Given the description of an element on the screen output the (x, y) to click on. 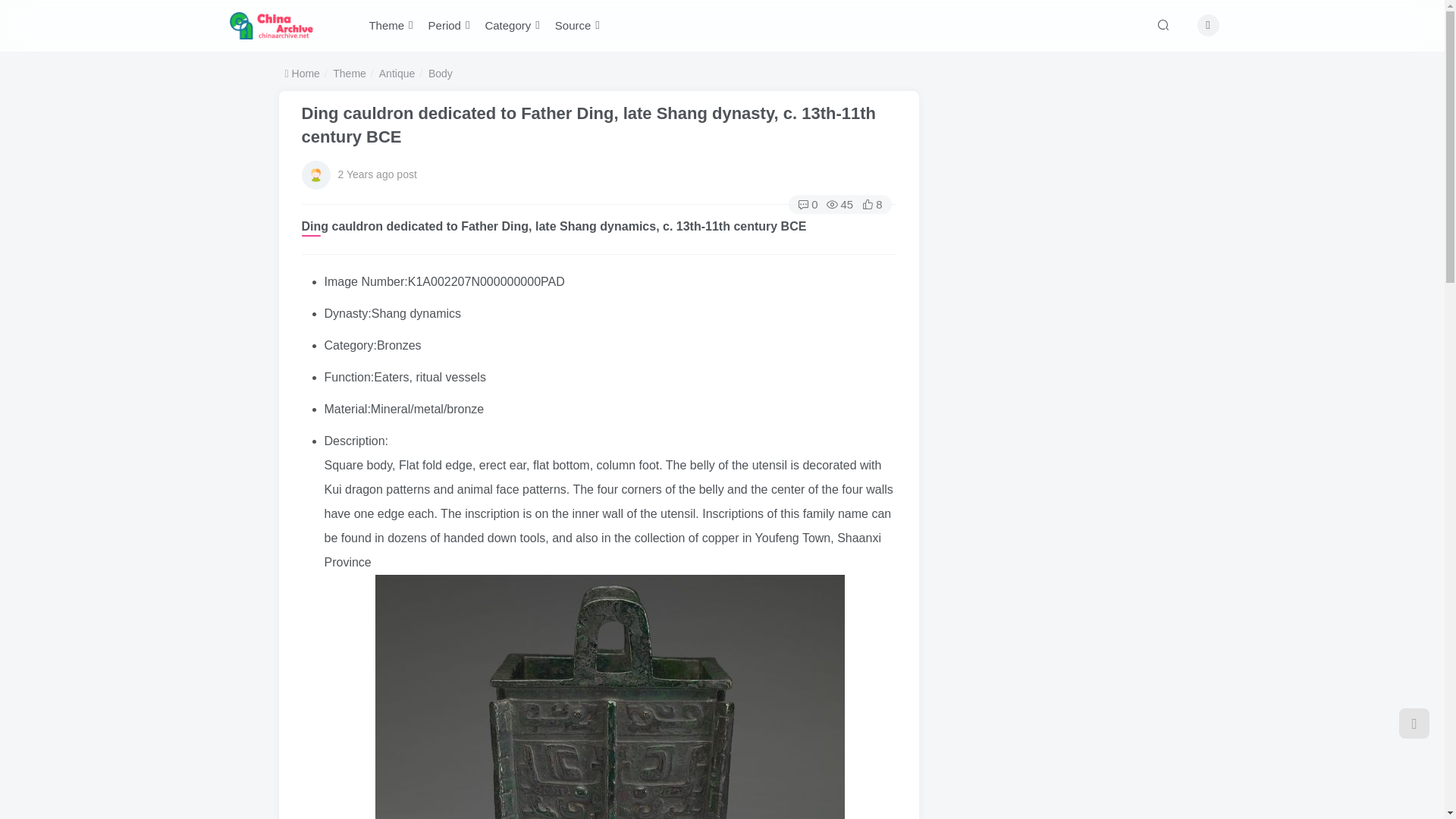
Theme (390, 25)
China Archive (271, 24)
Category (512, 25)
Period (448, 25)
